Given the description of an element on the screen output the (x, y) to click on. 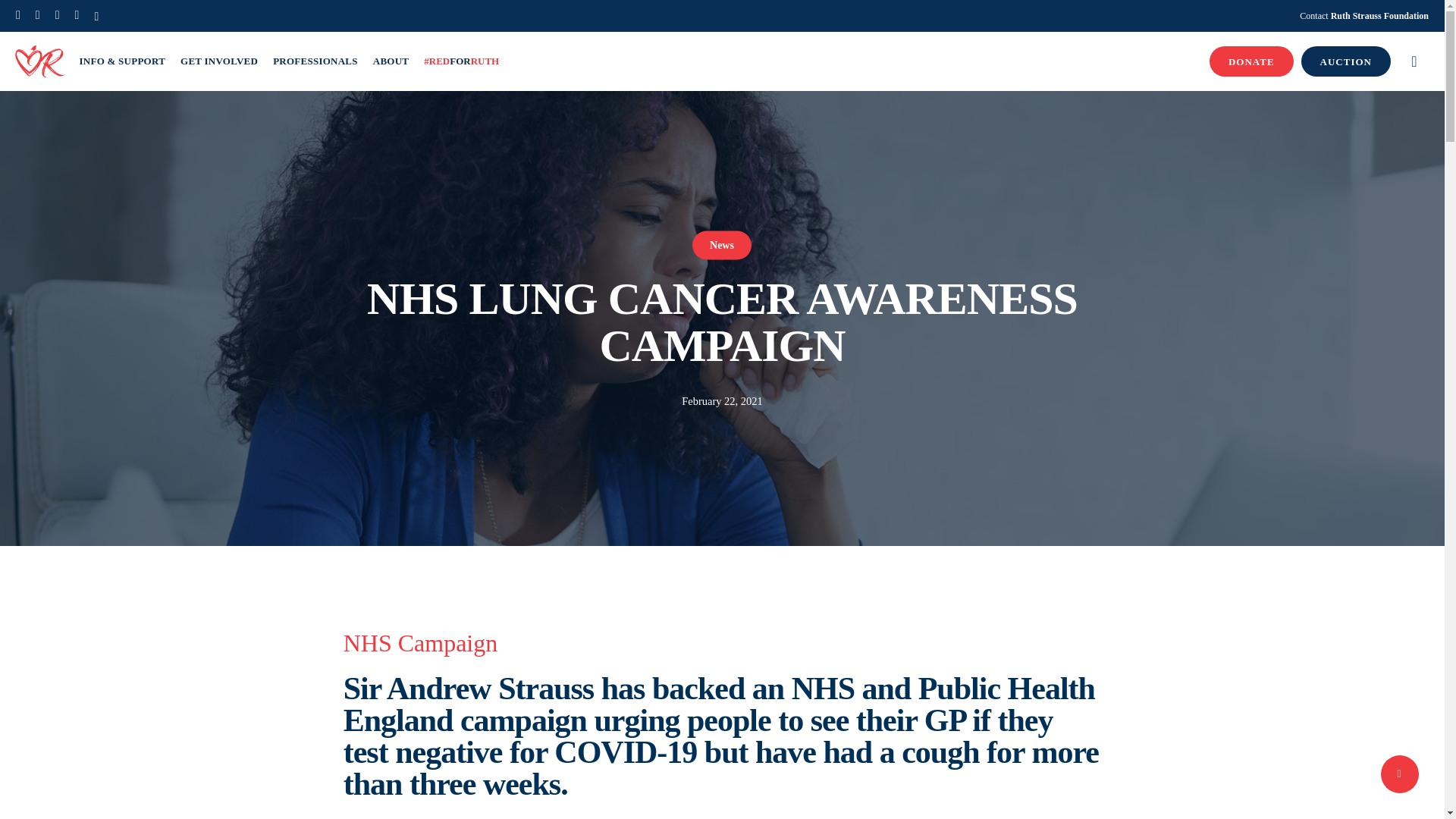
DONATE (1251, 61)
ABOUT (390, 61)
Contact Ruth Strauss Foundation (1364, 15)
GET INVOLVED (218, 61)
PROFESSIONALS (315, 61)
AUCTION (1345, 61)
